Given the description of an element on the screen output the (x, y) to click on. 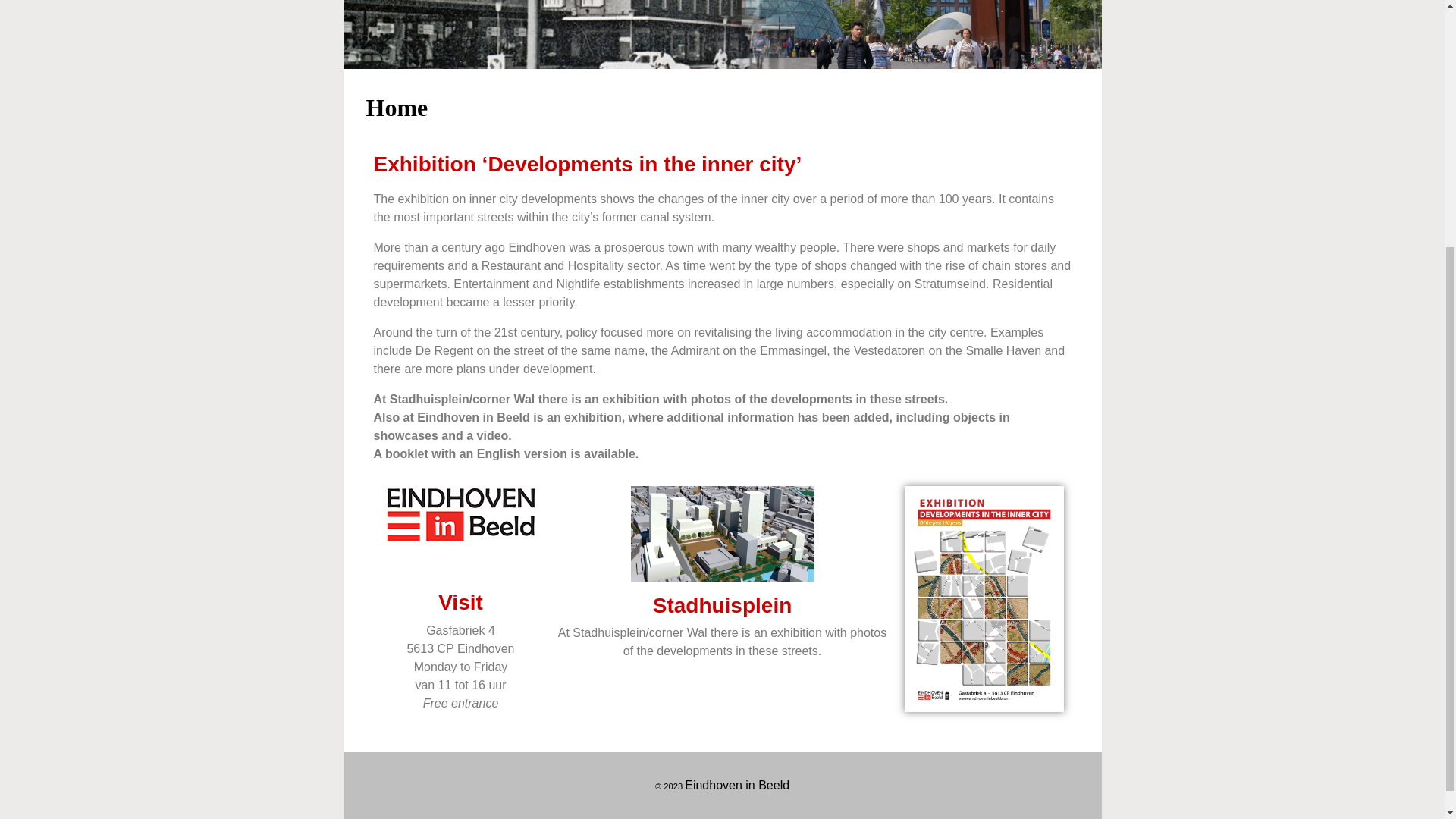
Eindhoven in Beeld (736, 784)
Stadhuisplein (722, 605)
Visit (460, 602)
